Given the description of an element on the screen output the (x, y) to click on. 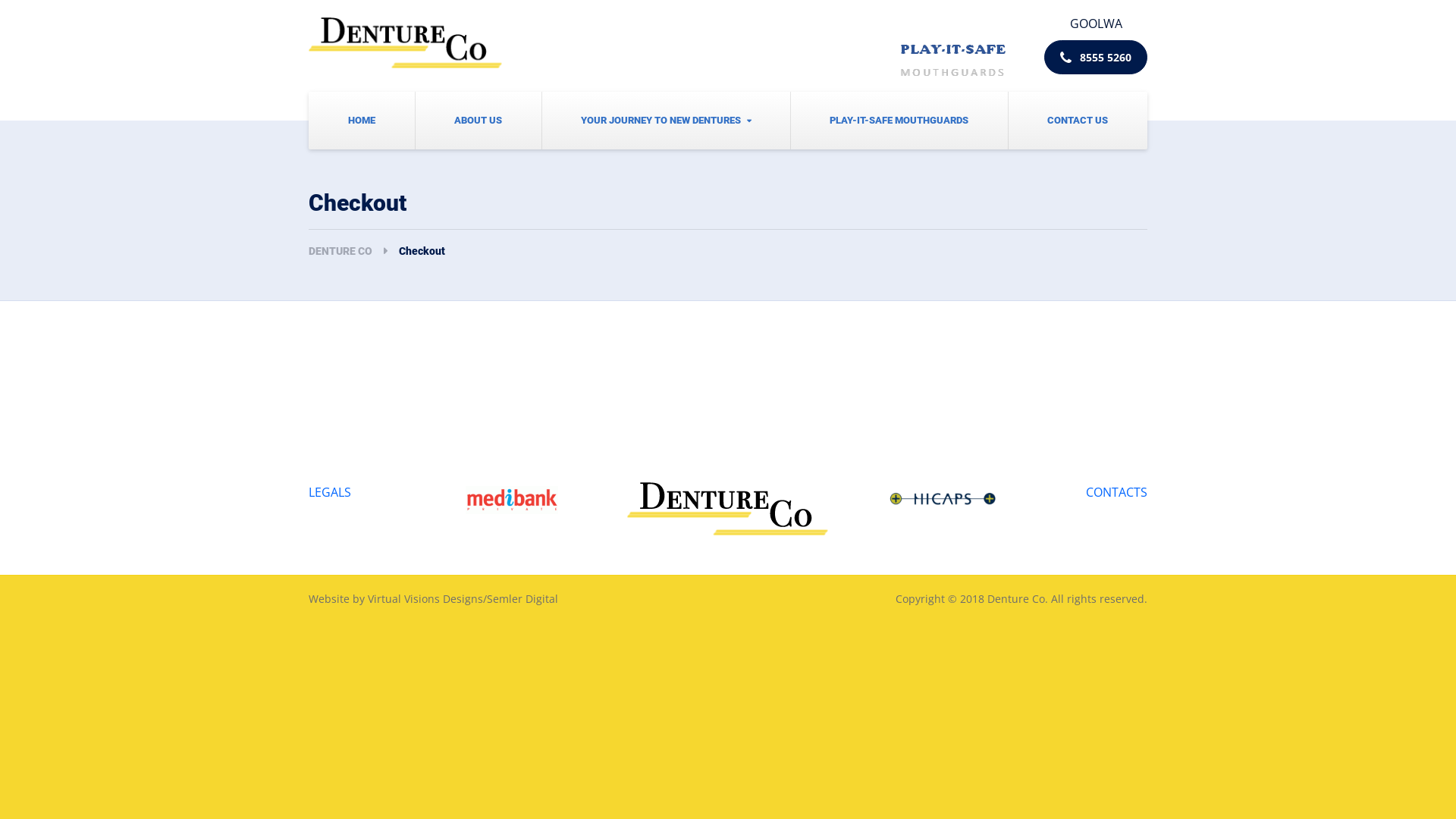
YOUR JOURNEY TO NEW DENTURES Element type: text (665, 120)
PLAY-IT-SAFE MOUTHGUARDS Element type: text (898, 120)
LEGALS Element type: text (329, 491)
CONTACT US Element type: text (1077, 120)
ABOUT US Element type: text (477, 120)
DENTURE CO Element type: text (353, 250)
8555 5260 Element type: text (1095, 57)
HOME Element type: text (361, 120)
CONTACTS Element type: text (1116, 491)
